Given the description of an element on the screen output the (x, y) to click on. 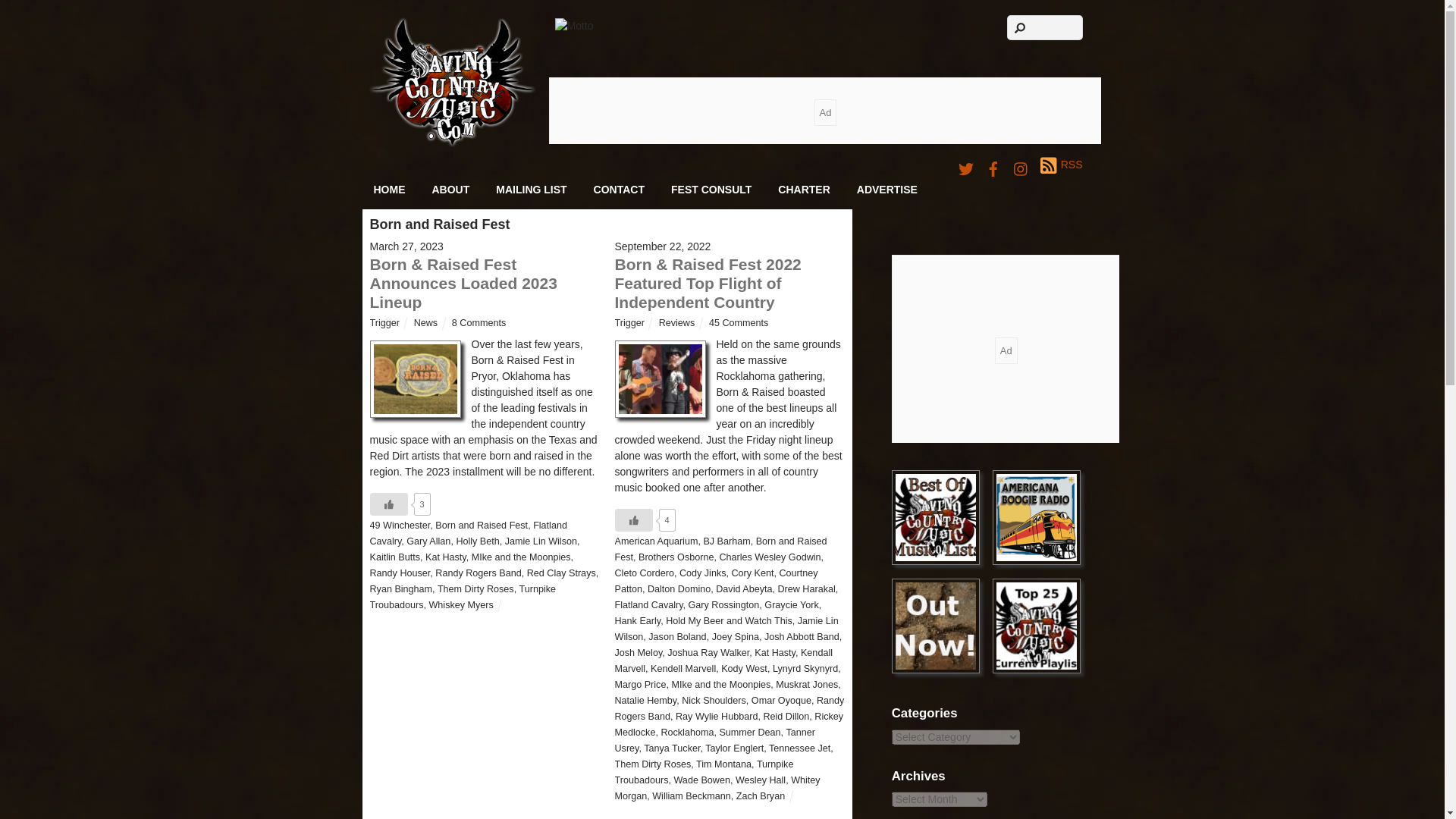
Ryan Bingham (400, 588)
RSS (1061, 165)
Search (1045, 27)
ABOUT (450, 190)
Kaitlin Butts (394, 557)
Whiskey Myers (460, 604)
Kat Hasty (445, 557)
ADVERTISE (886, 190)
HOME (389, 190)
Trigger (383, 322)
